Given the description of an element on the screen output the (x, y) to click on. 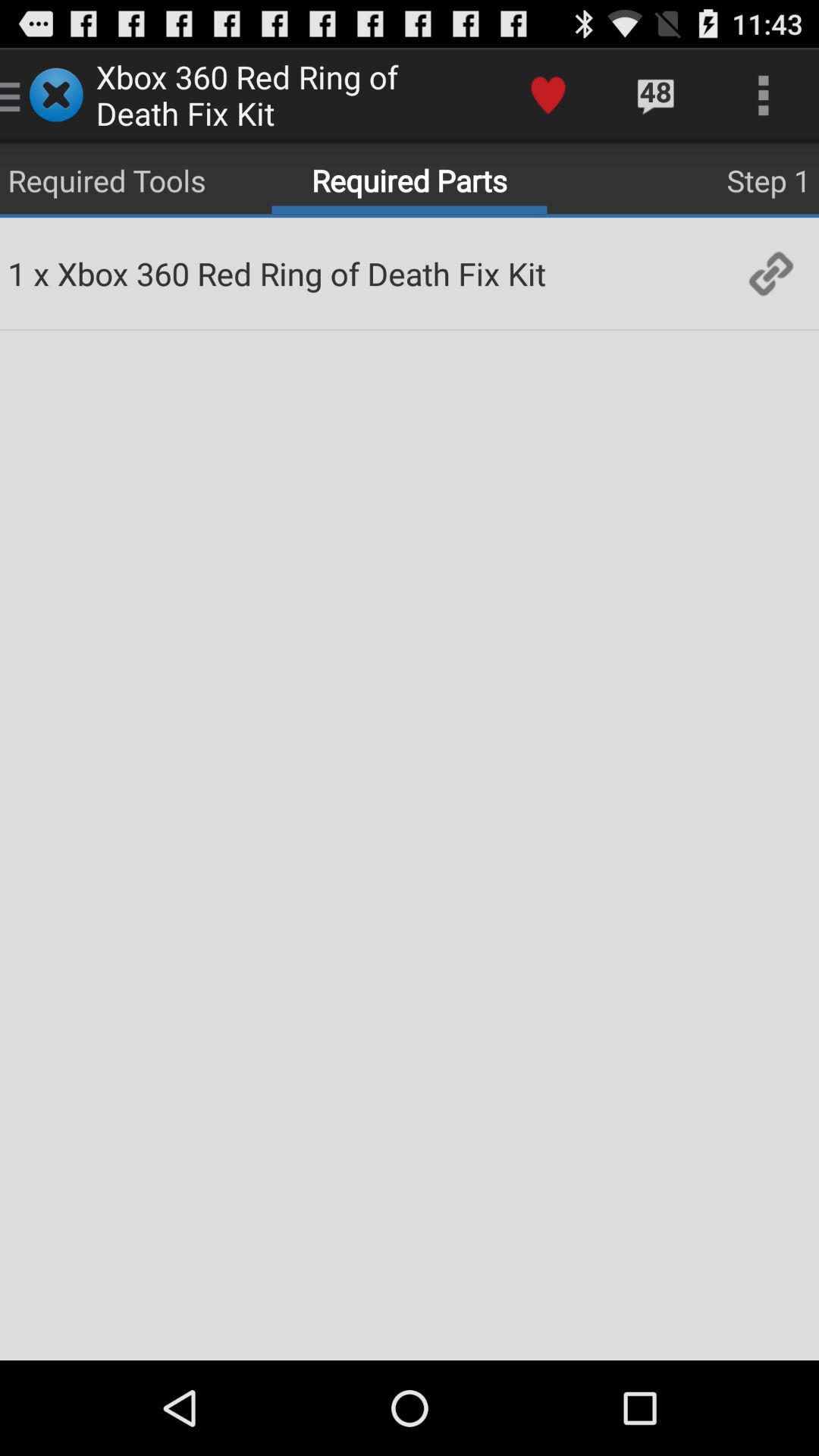
press app to the right of 1 item (41, 273)
